Given the description of an element on the screen output the (x, y) to click on. 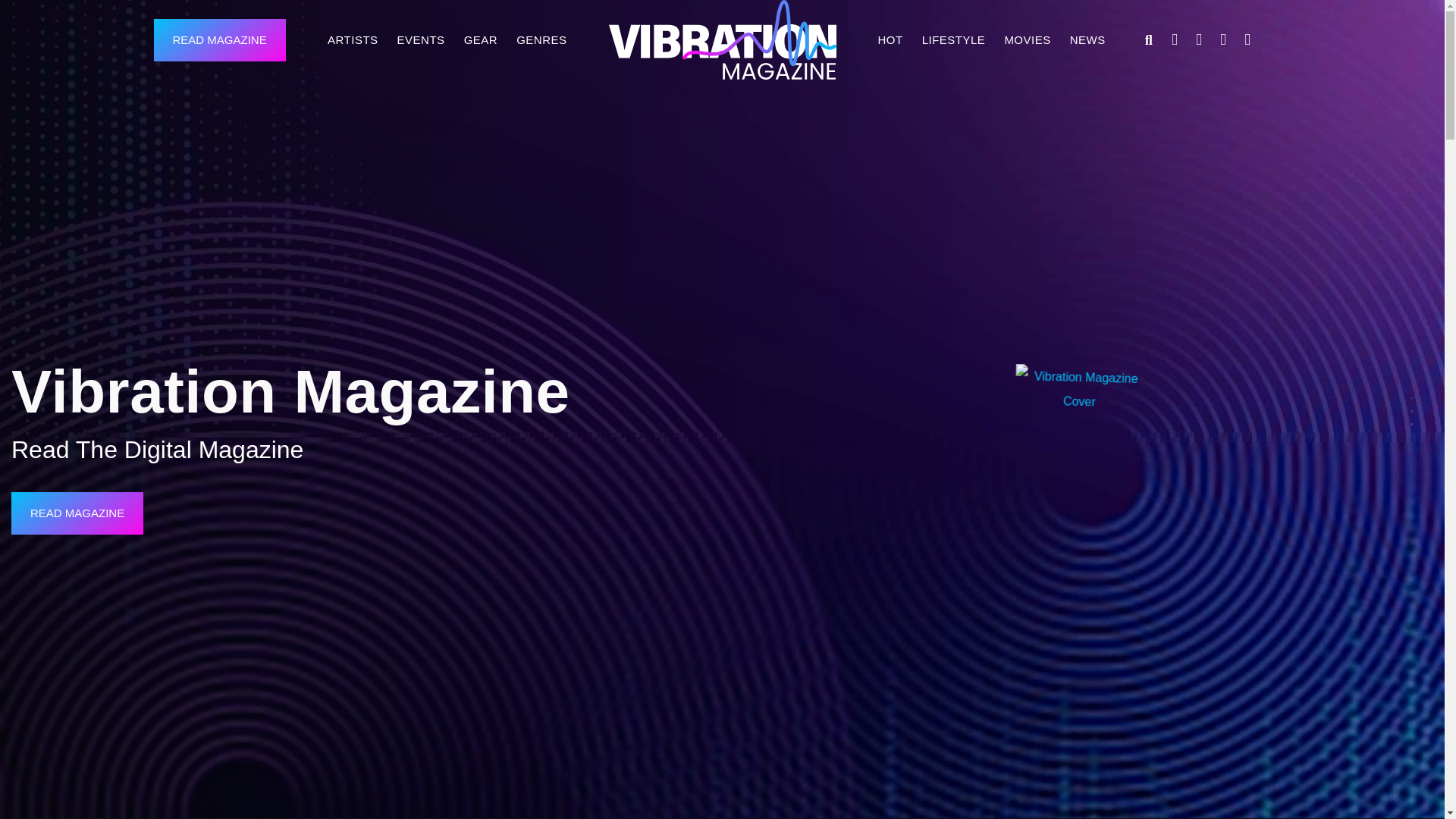
GENRES (541, 38)
NEWS (1087, 38)
READ MAGAZINE (218, 39)
ARTISTS (352, 38)
MOVIES (1026, 38)
HOT (889, 38)
LIFESTYLE (953, 38)
EVENTS (421, 38)
GEAR (480, 38)
